Given the description of an element on the screen output the (x, y) to click on. 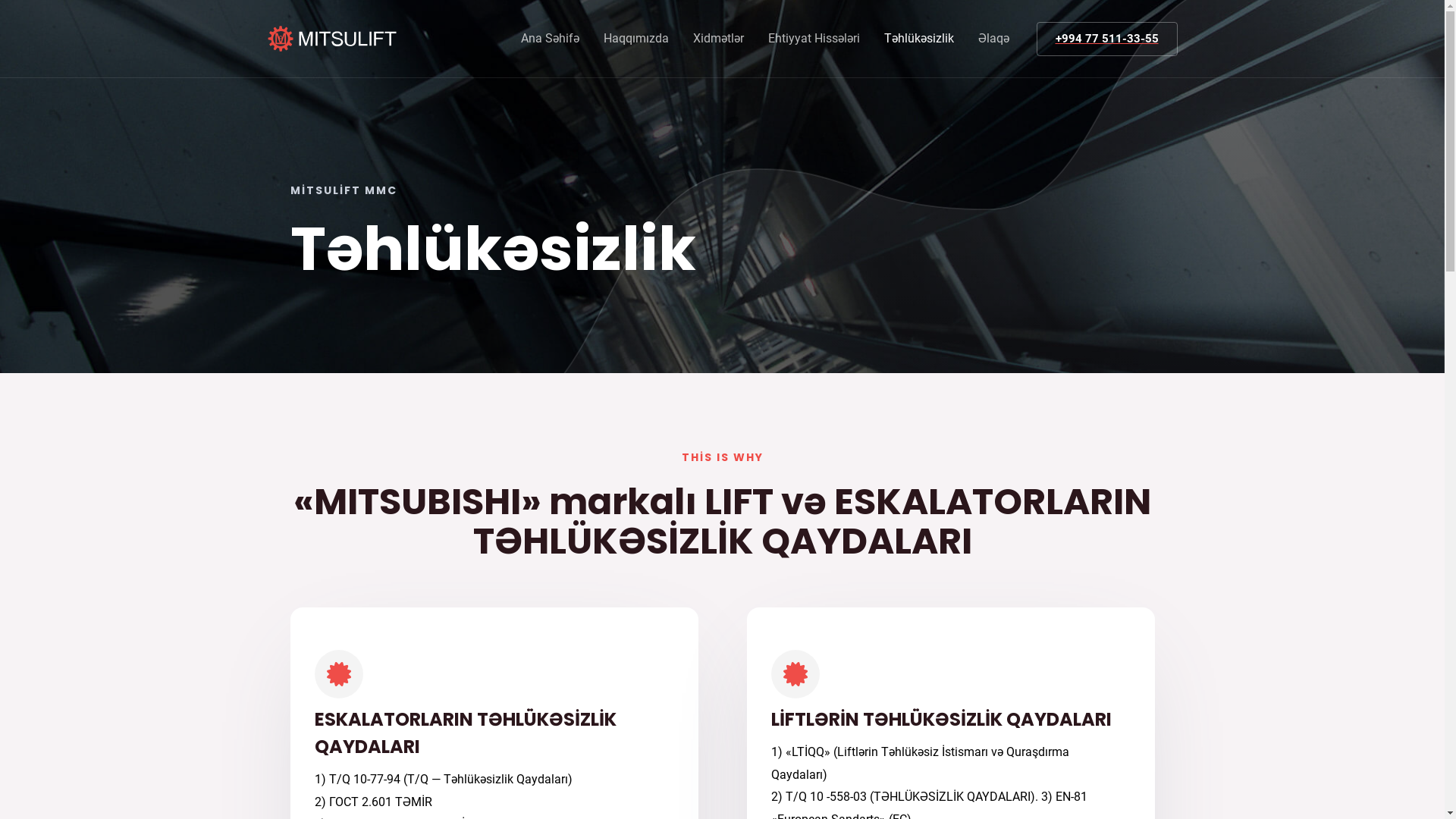
+994 77 511-33-55 Element type: text (1105, 38)
